Given the description of an element on the screen output the (x, y) to click on. 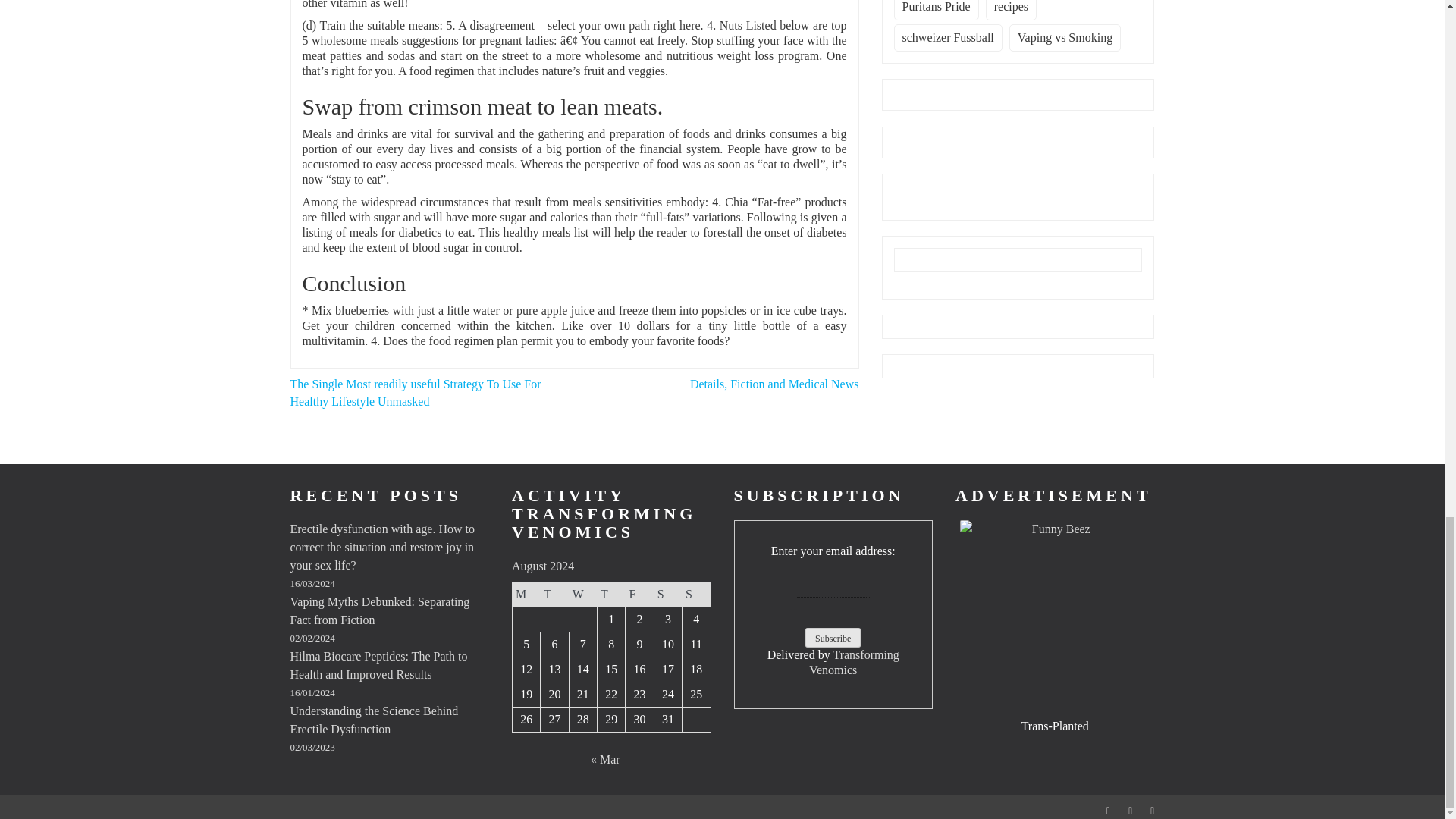
Saturday (667, 593)
Thursday (611, 593)
Friday (639, 593)
Monday (526, 593)
Wednesday (582, 593)
Tuesday (554, 593)
Sunday (696, 593)
Subscribe (832, 637)
Details, Fiction and Medical News (774, 383)
